Given the description of an element on the screen output the (x, y) to click on. 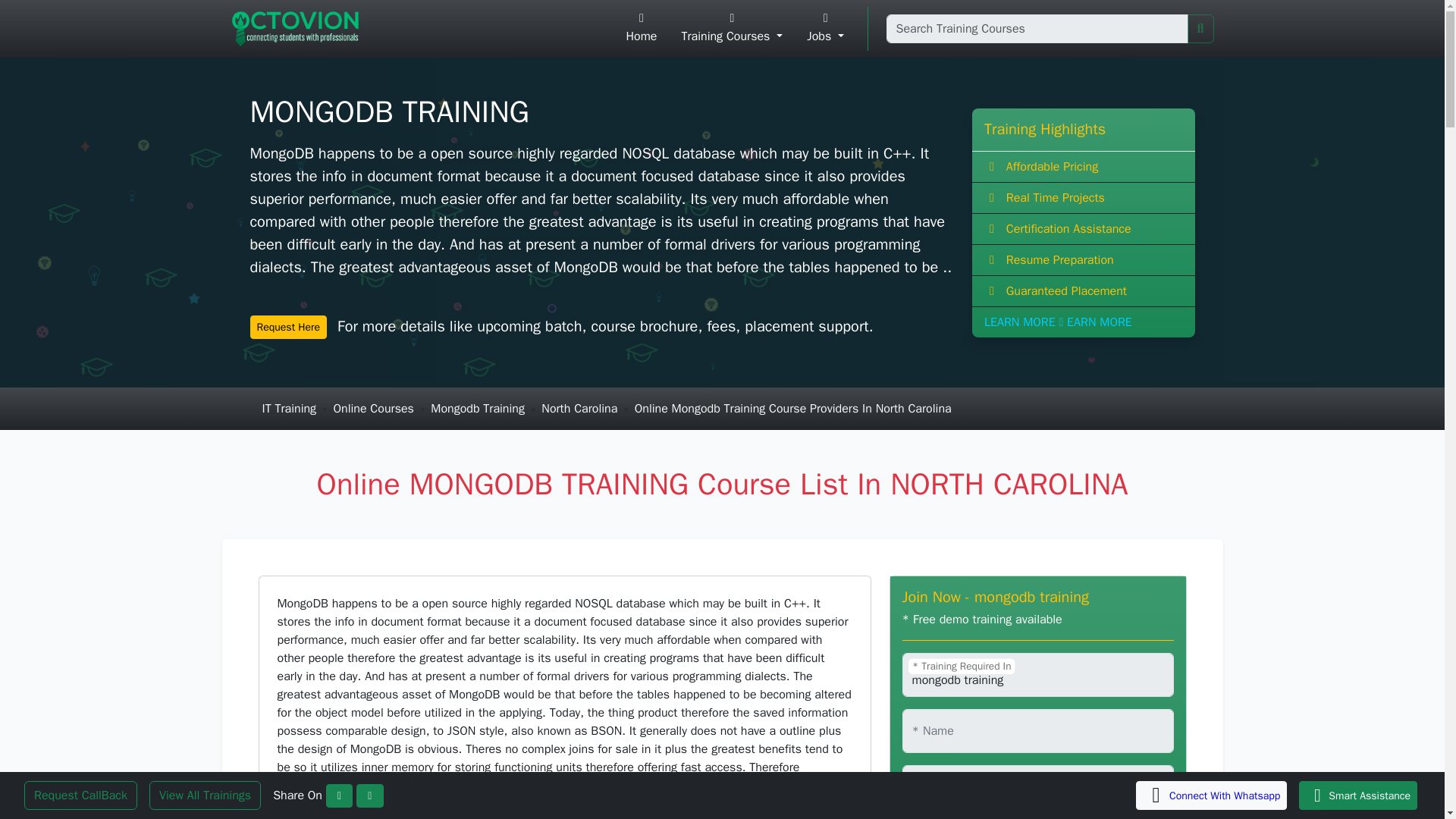
Request Here (288, 327)
Jobs (825, 28)
North Carolina (579, 408)
Home (641, 28)
Mongodb Training (477, 408)
Training Courses (731, 28)
Online Courses (373, 408)
mongodb training (1037, 674)
Online Mongodb Training Course Providers In North Carolina (793, 408)
IT Training (289, 408)
